Given the description of an element on the screen output the (x, y) to click on. 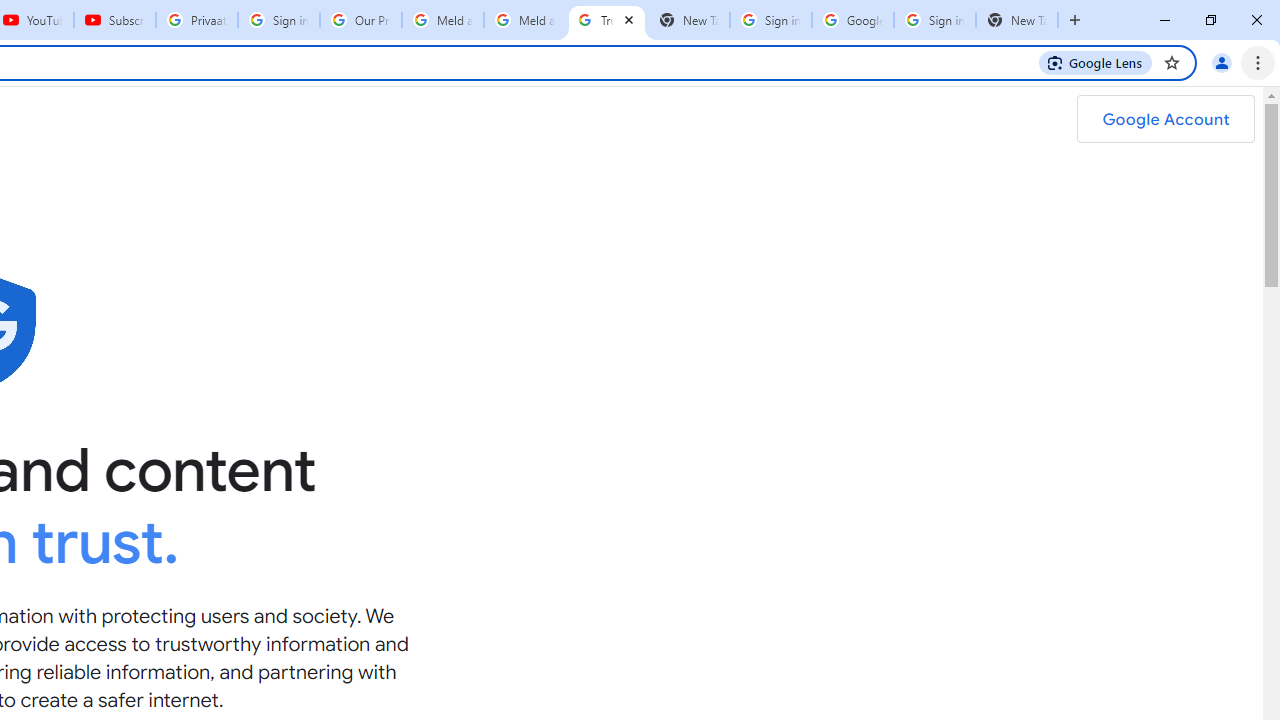
Trusted Information and Content - Google Safety Center (606, 20)
Google Account (1165, 119)
